Given the description of an element on the screen output the (x, y) to click on. 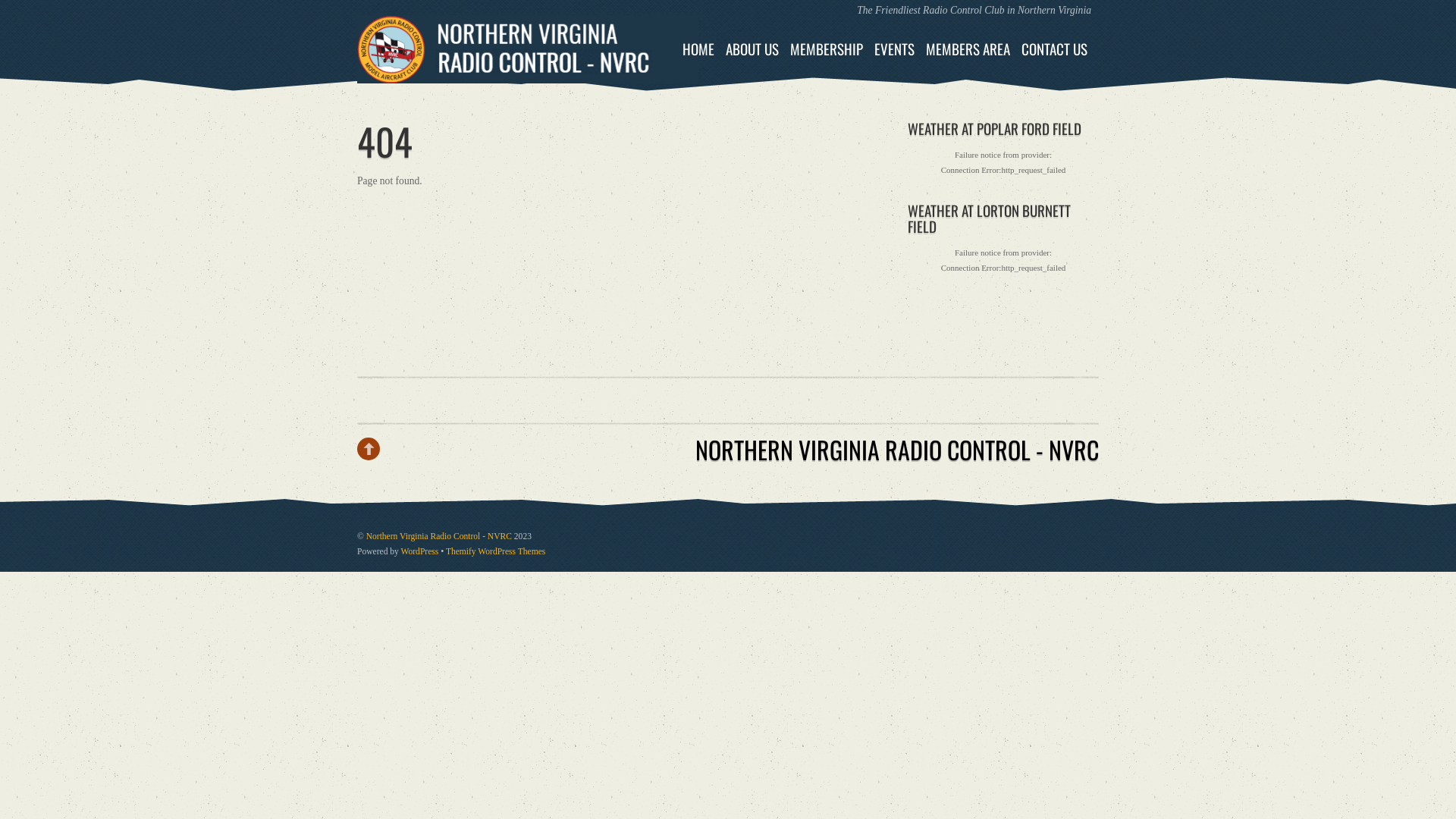
CONTACT US Element type: text (1054, 48)
EVENTS Element type: text (894, 48)
MEMBERS AREA Element type: text (967, 48)
Northern Virginia Radio Control - NVRC Element type: text (438, 536)
NORTHERN VIRGINIA RADIO CONTROL - NVRC Element type: text (896, 449)
ABOUT US Element type: text (751, 48)
HOME Element type: text (698, 48)
WordPress Element type: text (420, 551)
Northern Virginia Radio Control - NVRC Element type: hover (527, 70)
MEMBERSHIP Element type: text (826, 48)
NVRC-Logo-Header Element type: hover (527, 49)
Themify WordPress Themes Element type: text (495, 551)
